Given the description of an element on the screen output the (x, y) to click on. 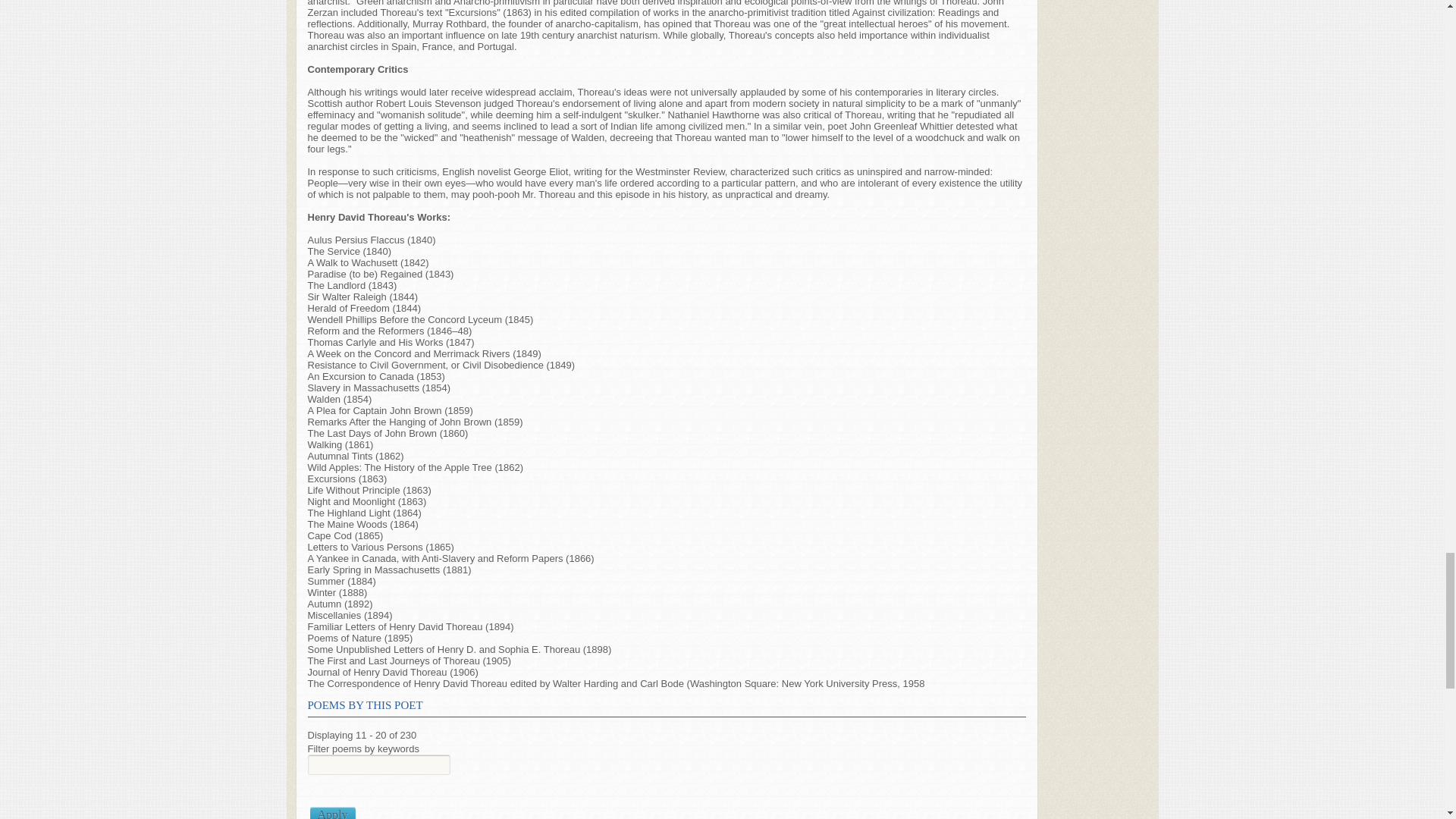
Apply (331, 812)
Enter the terms you wish to search for. (378, 764)
Apply (331, 812)
